Given the description of an element on the screen output the (x, y) to click on. 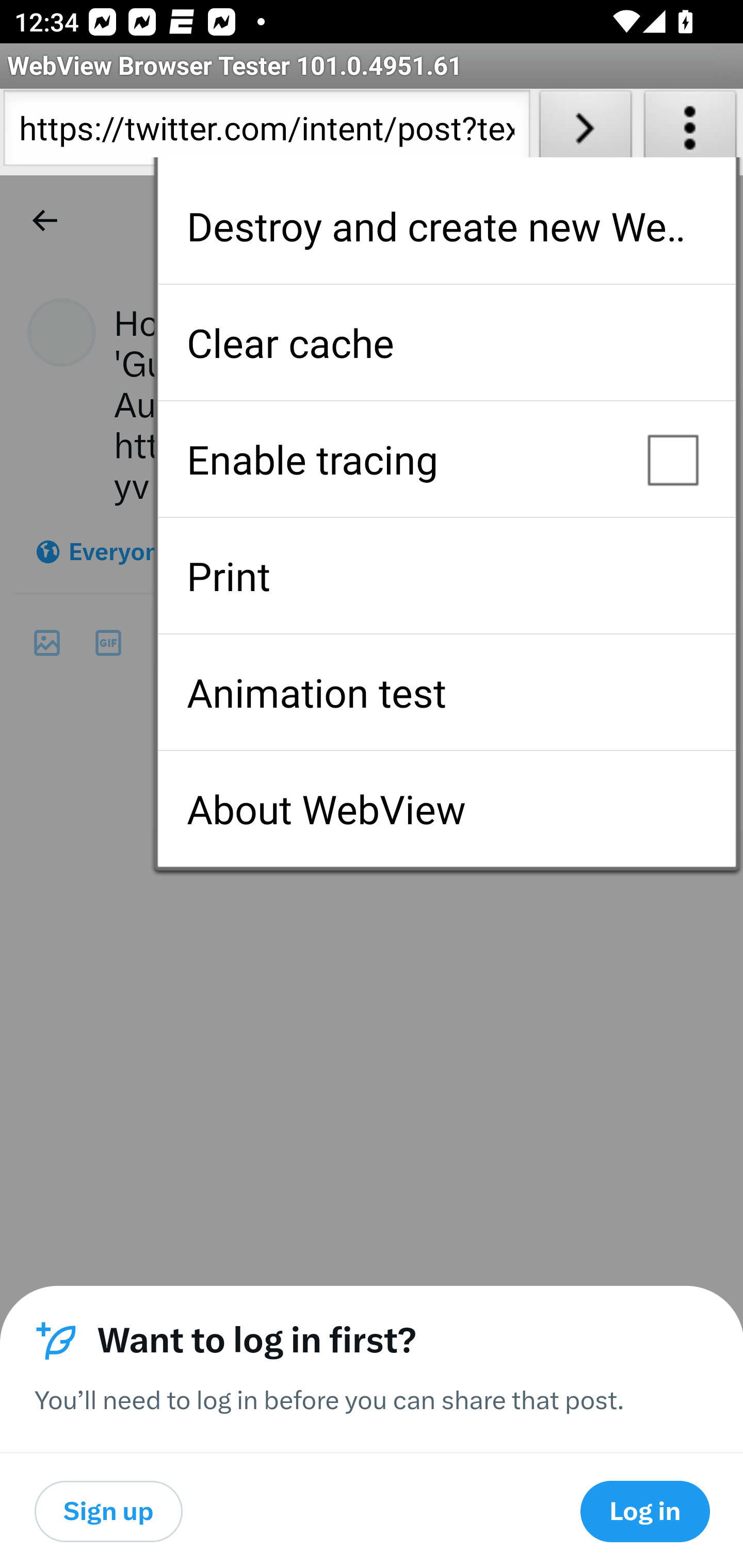
Destroy and create new WebView (446, 225)
Clear cache (446, 342)
Enable tracing (446, 459)
Print (446, 575)
Animation test (446, 692)
About WebView (446, 809)
